Given the description of an element on the screen output the (x, y) to click on. 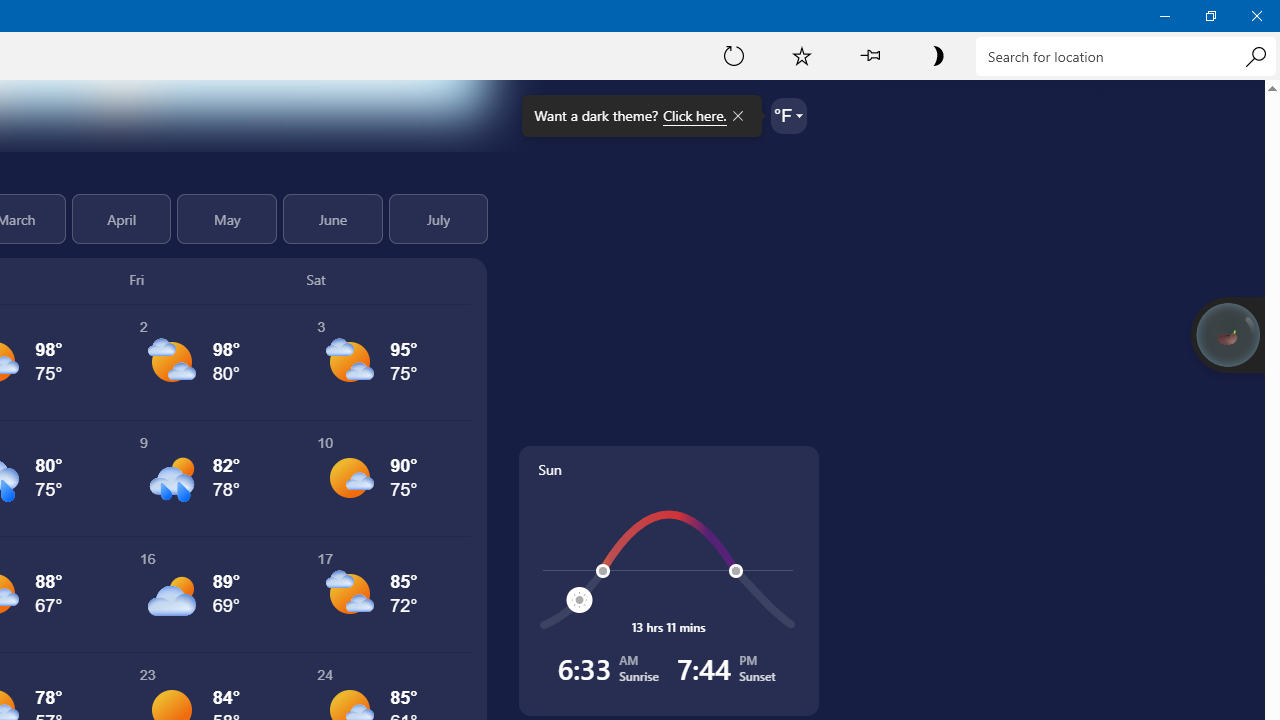
Refresh (734, 55)
Search for location (1125, 56)
Pin (869, 55)
Search (1255, 56)
Minimize Weather (1164, 15)
Close Weather (1256, 15)
Add to Favorites (801, 55)
Turn on dark theme (937, 55)
Restore Weather (1210, 15)
